Given the description of an element on the screen output the (x, y) to click on. 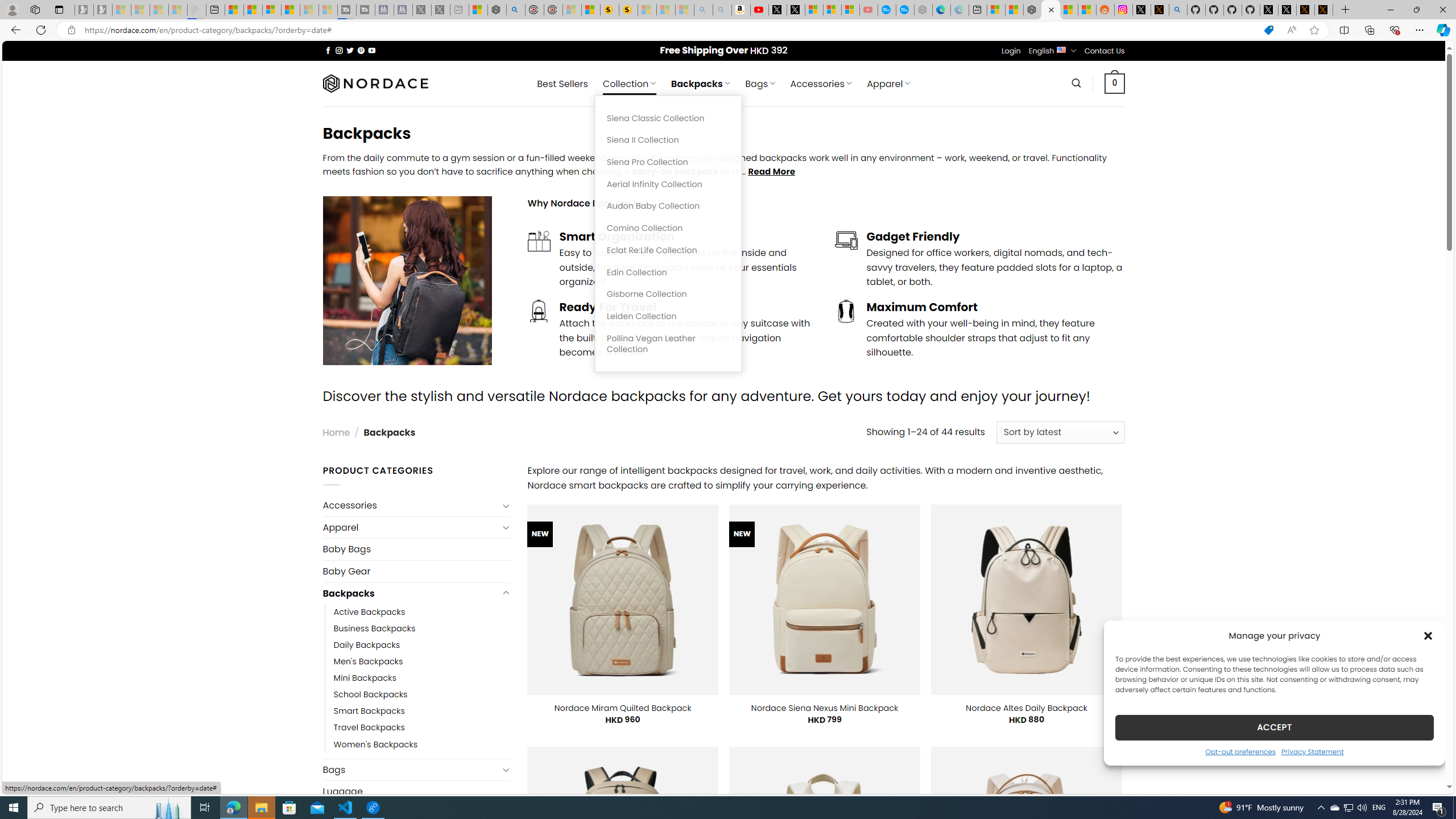
Nordace - Backpacks (1050, 9)
Nordace - Nordace has arrived Hong Kong - Sleeping (923, 9)
Class: cmplz-close (1428, 635)
Opt-out preferences (1240, 750)
Browser essentials (1394, 29)
New tab (977, 9)
Nordace Miram Quilted Backpack (622, 708)
Follow on Twitter (349, 49)
help.x.com | 524: A timeout occurred (1159, 9)
